Given the description of an element on the screen output the (x, y) to click on. 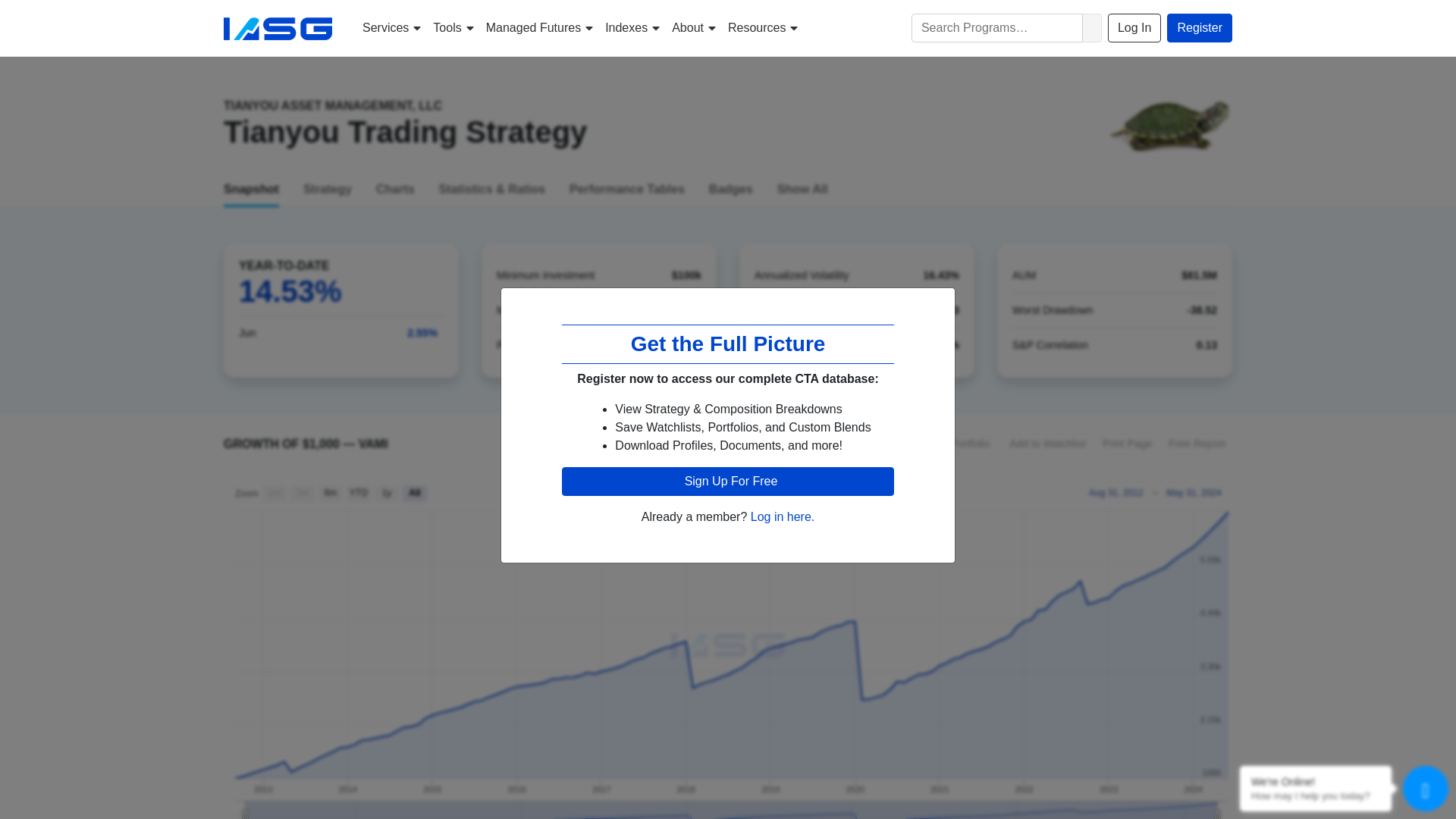
Indexes (631, 28)
Managed Futures (539, 28)
Tools (452, 28)
Resources (762, 28)
Services (391, 28)
Tools (452, 28)
IASG (277, 28)
Services (391, 28)
Managed Futures (539, 28)
About (693, 28)
